Given the description of an element on the screen output the (x, y) to click on. 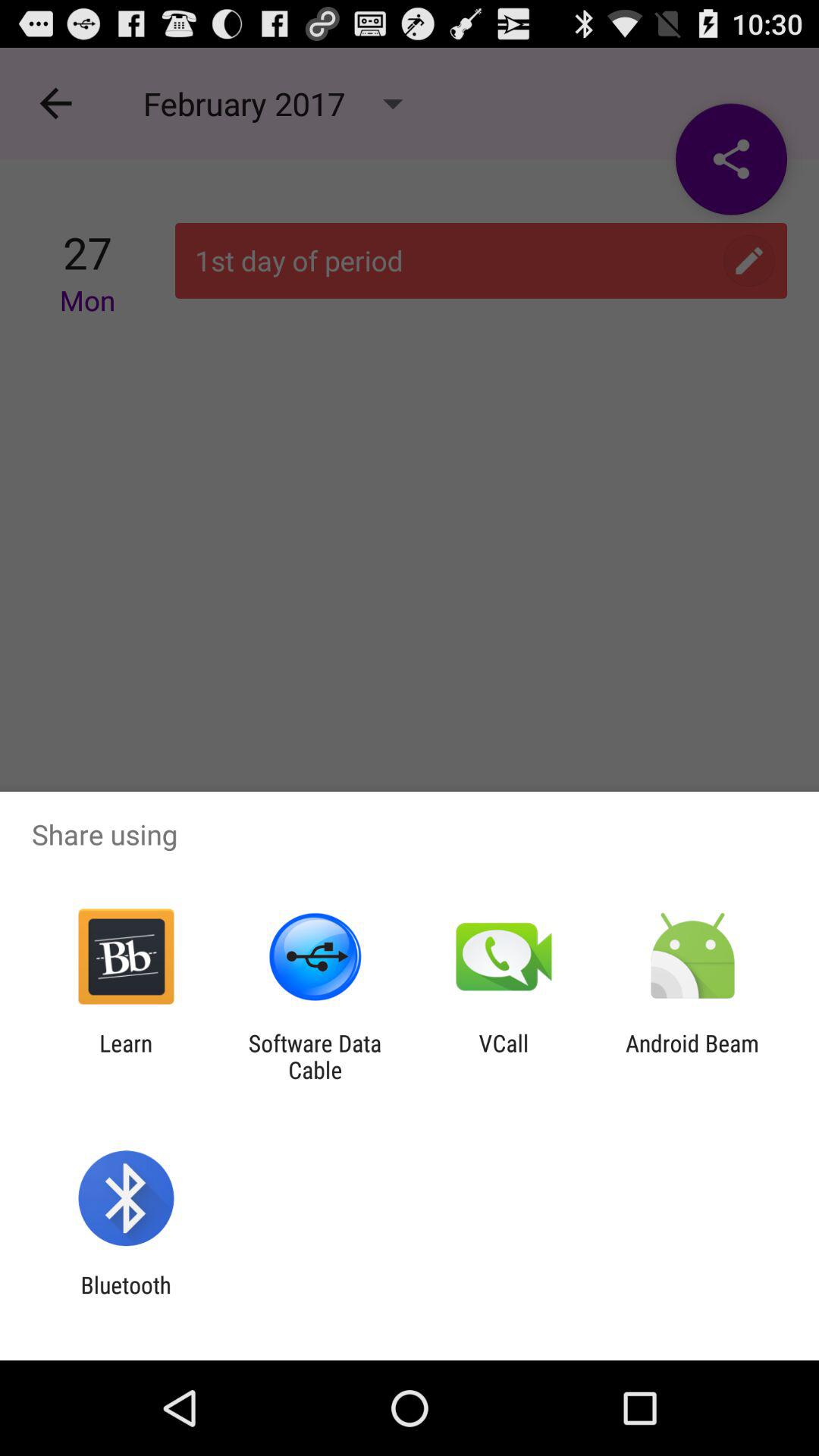
turn on the icon to the left of the software data cable app (125, 1056)
